Given the description of an element on the screen output the (x, y) to click on. 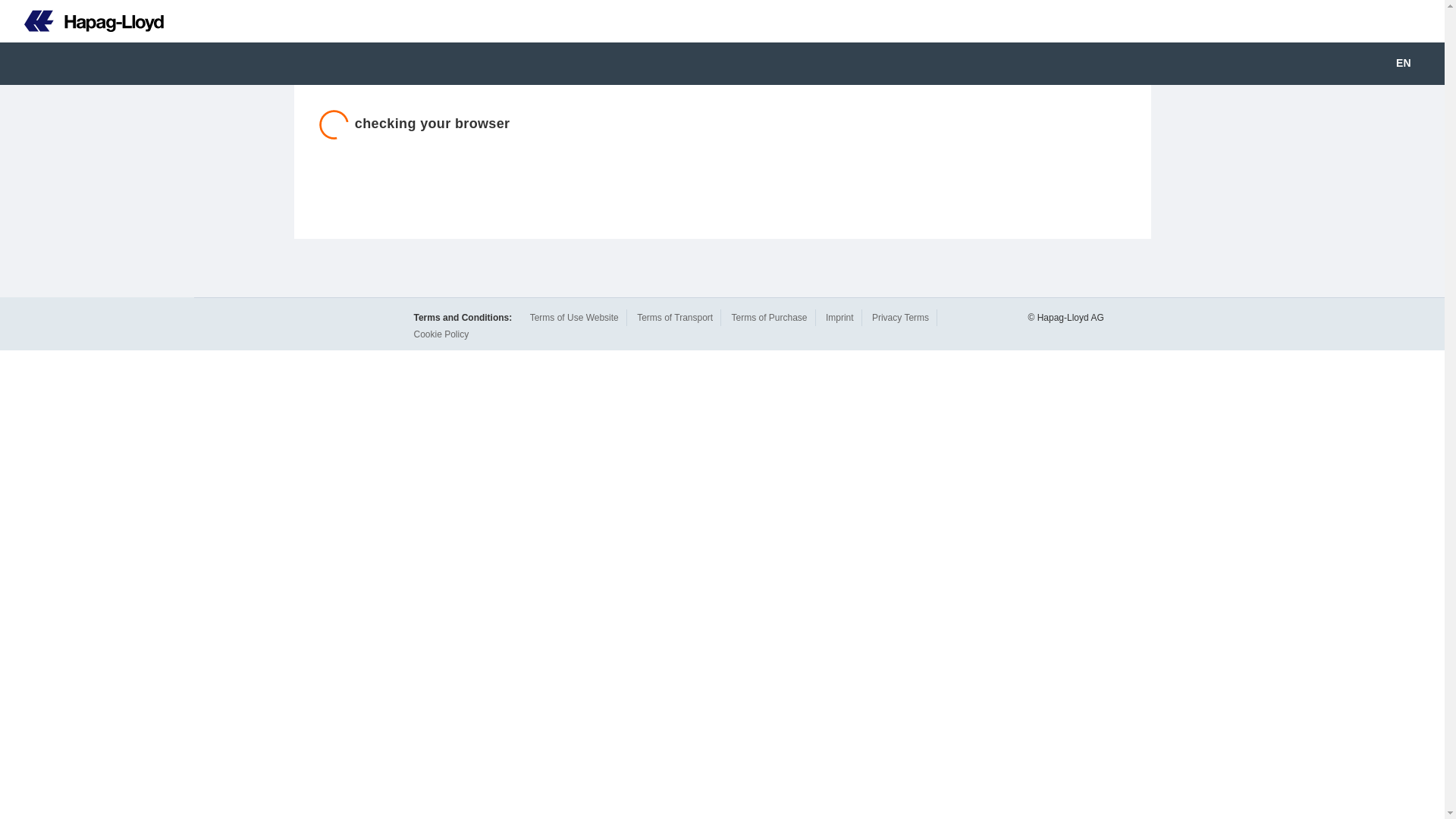
Hapag-Lloyd Logo (81, 21)
Terms of Transport (675, 317)
Terms of Purchase (768, 317)
Cookie Policy (440, 334)
Imprint (839, 317)
Terms of Use Website (573, 317)
Hapag-Lloyd Logo (93, 21)
Privacy Terms (900, 317)
EN (1414, 63)
